Given the description of an element on the screen output the (x, y) to click on. 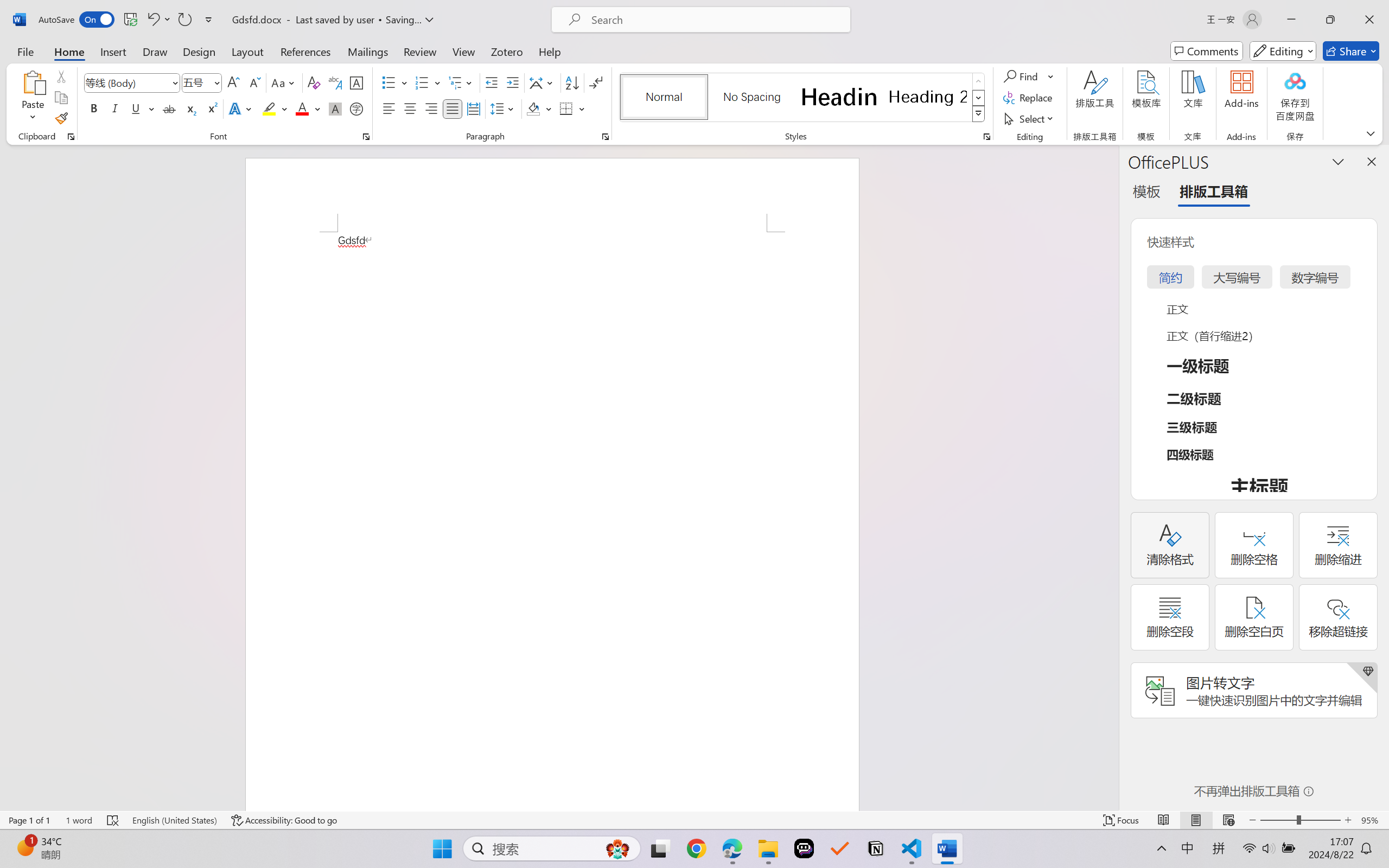
Microsoft search (715, 19)
